Given the description of an element on the screen output the (x, y) to click on. 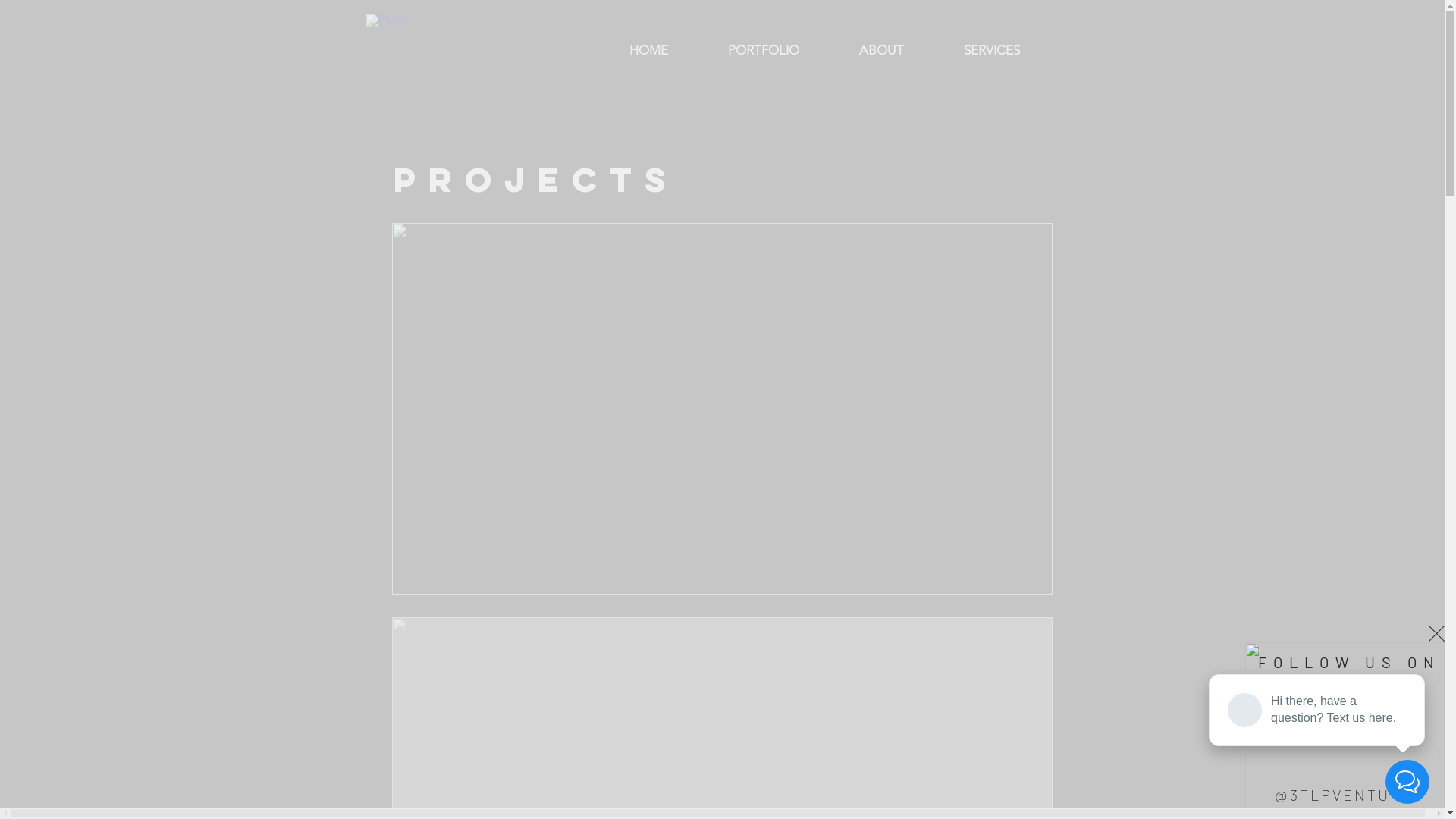
Back to site Element type: hover (1436, 633)
PORTFOLIO Element type: text (762, 48)
HOME Element type: text (648, 48)
SERVICES Element type: text (991, 48)
FOLLOW US ON INSTAGRAM Element type: text (1349, 671)
ABOUT Element type: text (881, 48)
@3TLPVENTURES Element type: text (1348, 795)
Embedded Content Element type: hover (449, 132)
Embedded Content Element type: hover (487, 432)
